Given the description of an element on the screen output the (x, y) to click on. 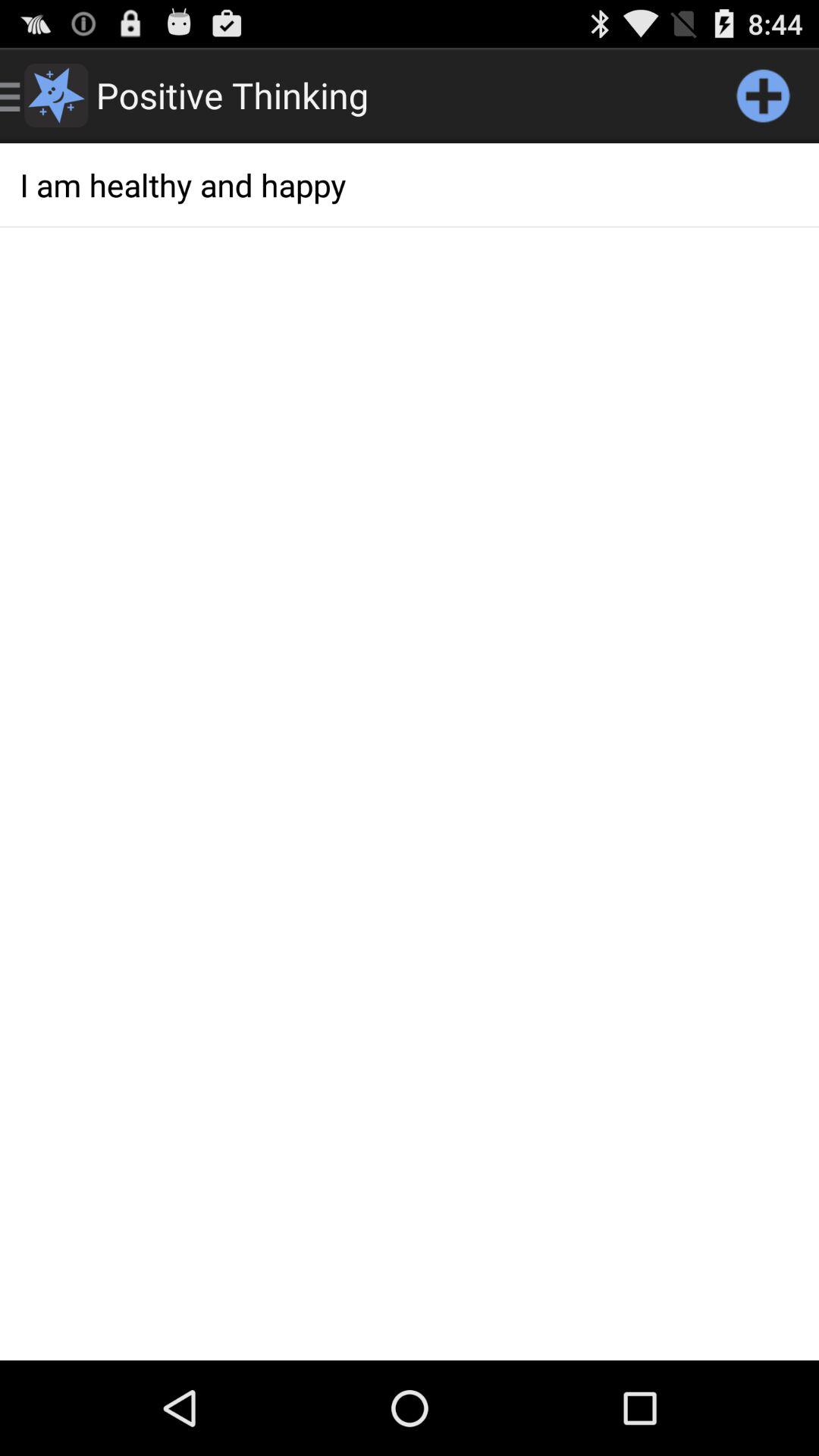
choose the item above i am healthy app (763, 95)
